Given the description of an element on the screen output the (x, y) to click on. 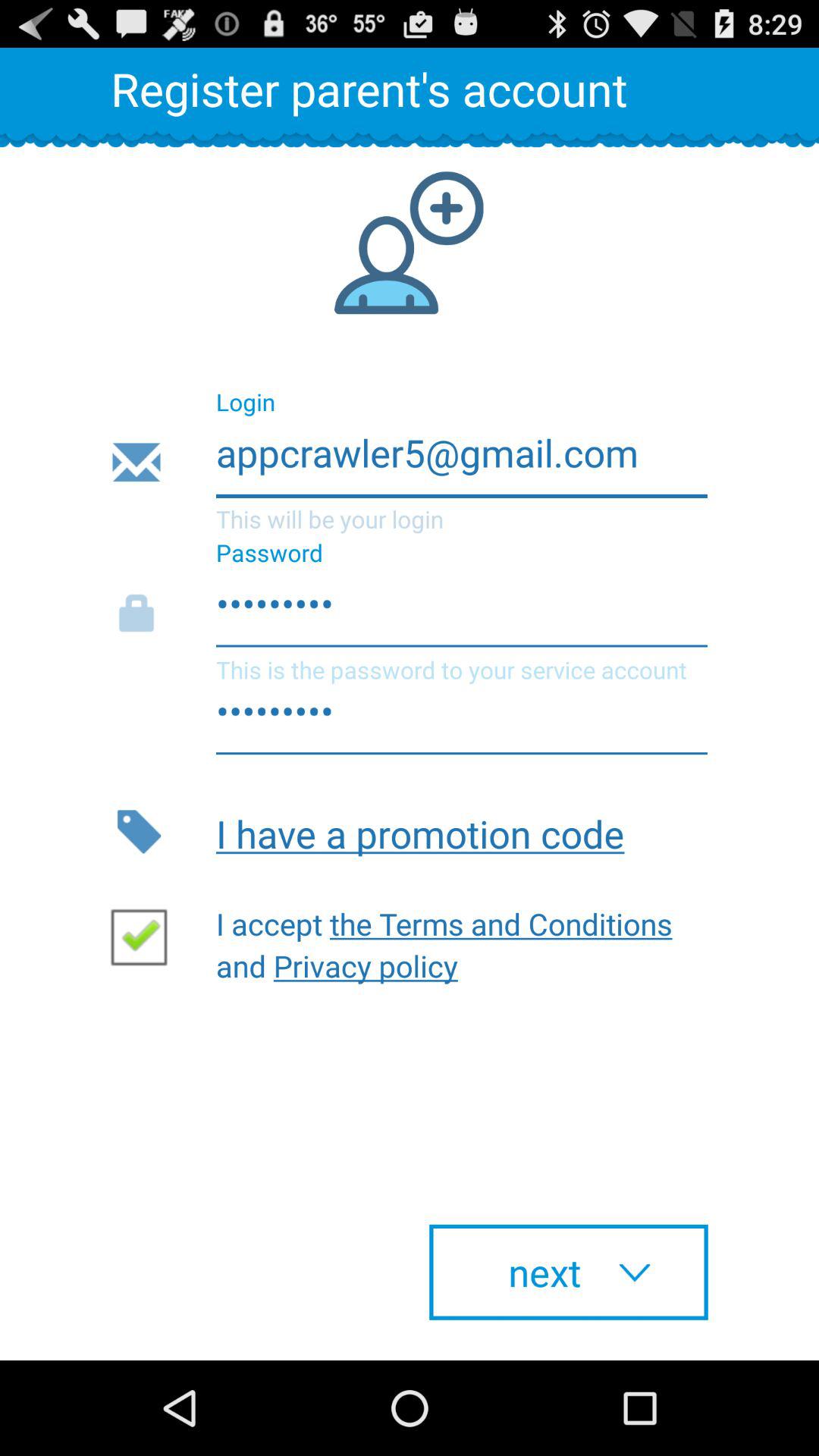
click the next icon (568, 1272)
